Given the description of an element on the screen output the (x, y) to click on. 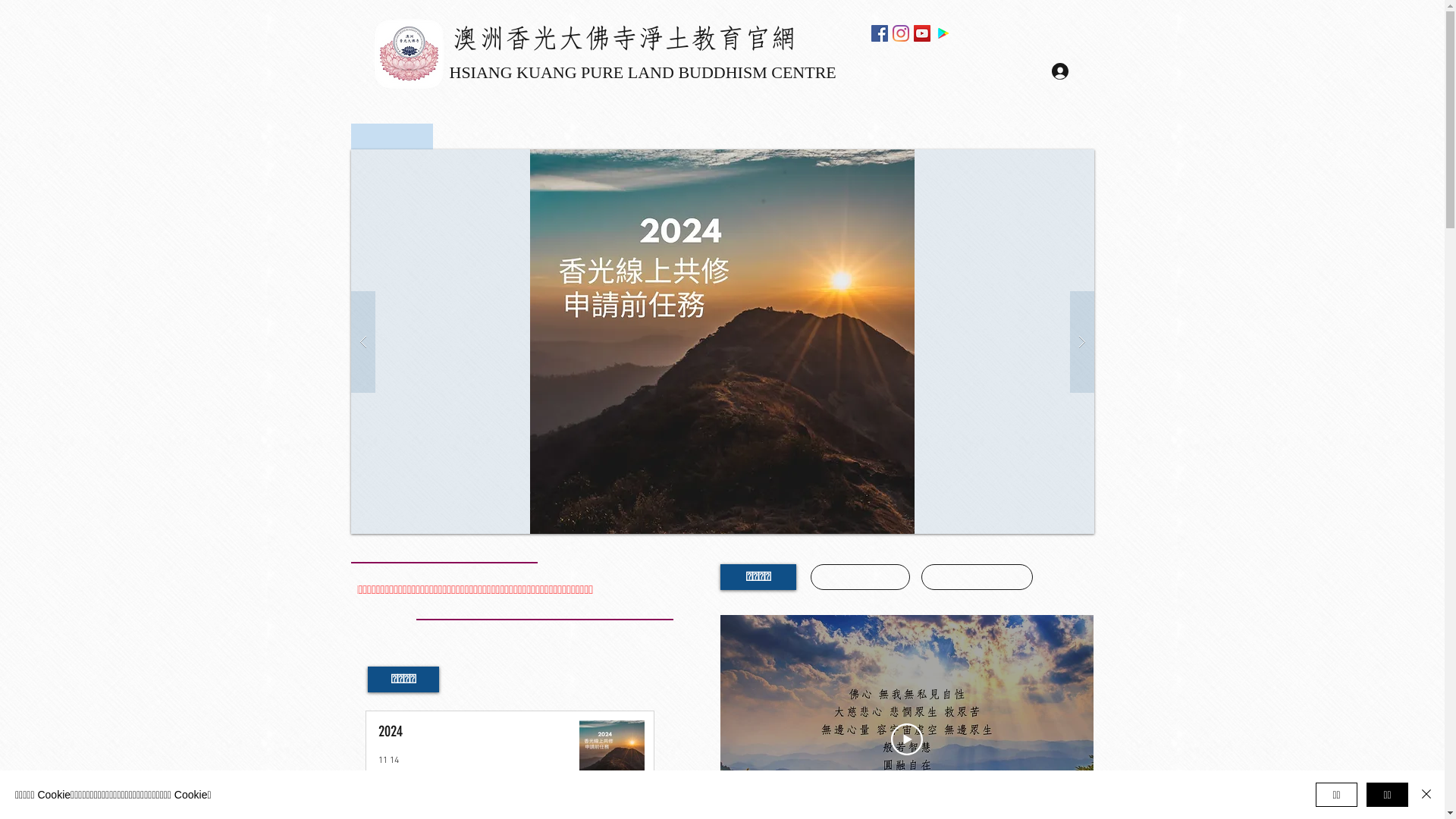
Site Search Element type: hover (1023, 33)
Embedded Content Element type: hover (511, 592)
0 Element type: text (436, 789)
